Given the description of an element on the screen output the (x, y) to click on. 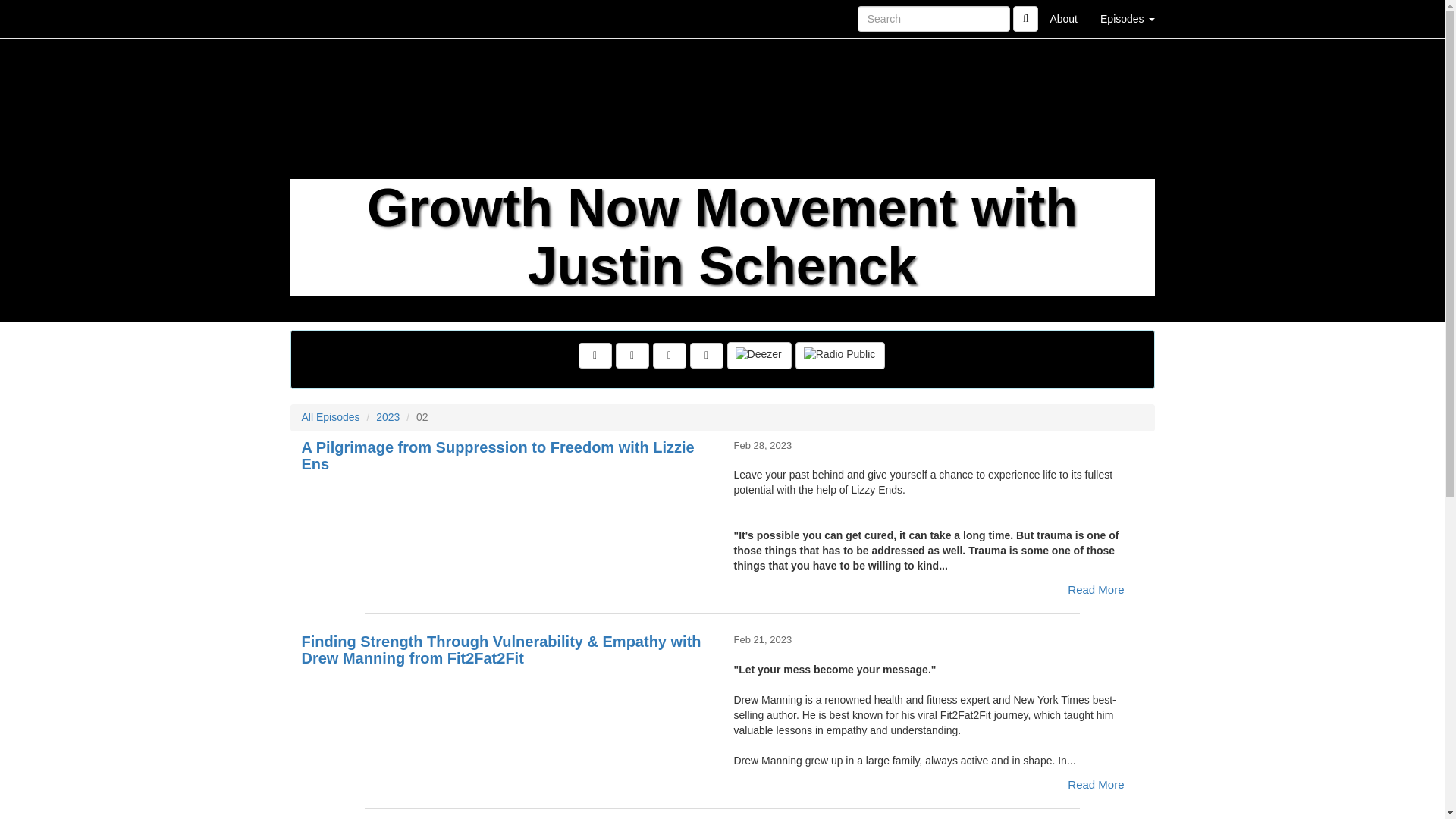
A Pilgrimage from Suppression to Freedom with Lizzie Ens (506, 509)
About (1063, 18)
Home Page (320, 18)
Episodes (1127, 18)
Email This Podcast (668, 355)
Listen on Deezer (759, 355)
Visit Us on Facebook (594, 355)
Visit Us on Twitter (632, 355)
Listen on Radio Public (839, 355)
Subscribe to RSS Feed (706, 355)
